Given the description of an element on the screen output the (x, y) to click on. 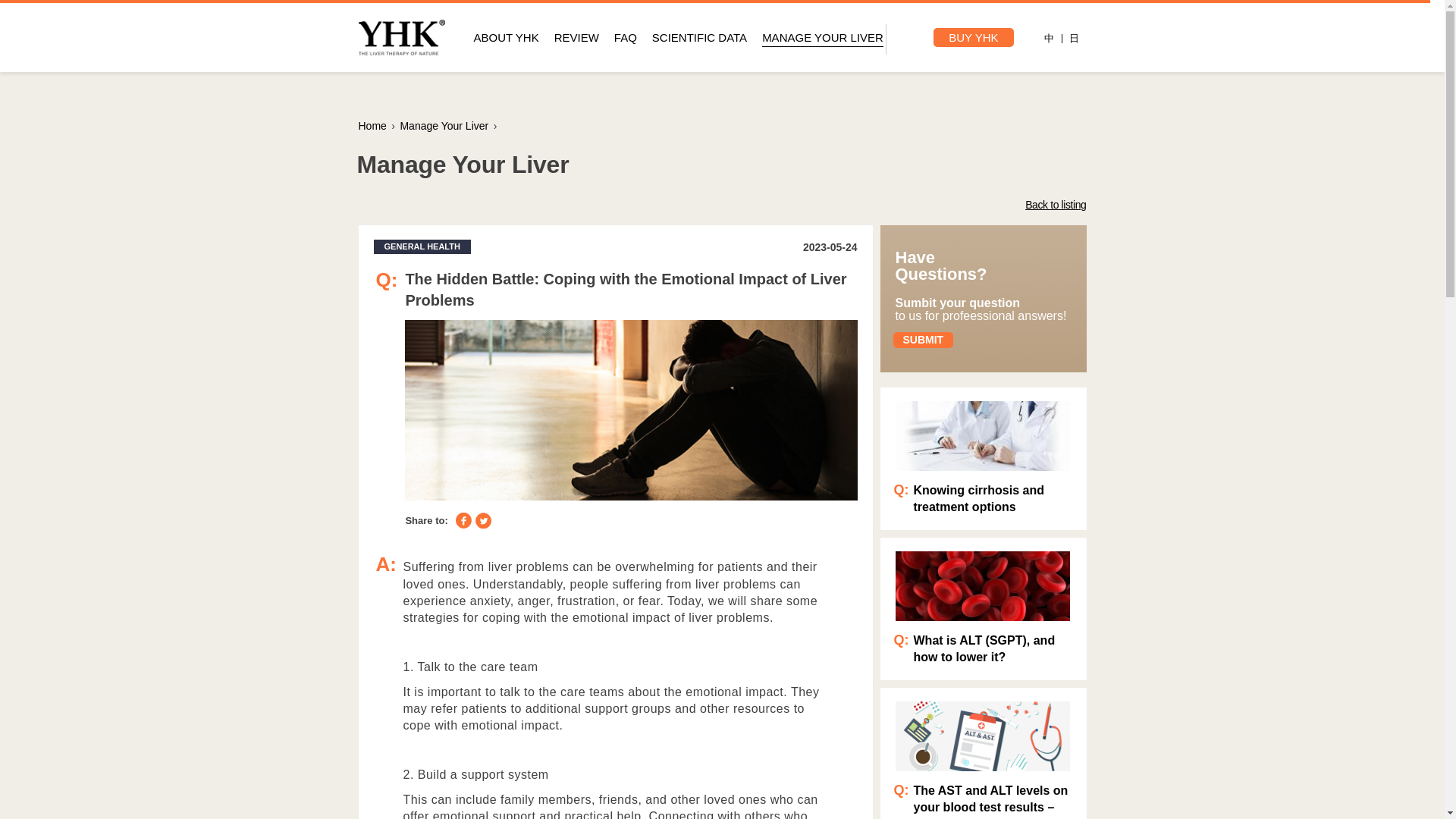
Knowing cirrhosis and treatment options (981, 435)
YHK Liver Therapy home page (371, 125)
SUBMIT (923, 340)
Manage Your Liver (442, 125)
GENERAL HEALTH (421, 246)
Knowing cirrhosis and treatment options (988, 499)
ABOUT YHK (505, 37)
Knowing cirrhosis and treatment options (988, 499)
Back to listing (1055, 204)
